Given the description of an element on the screen output the (x, y) to click on. 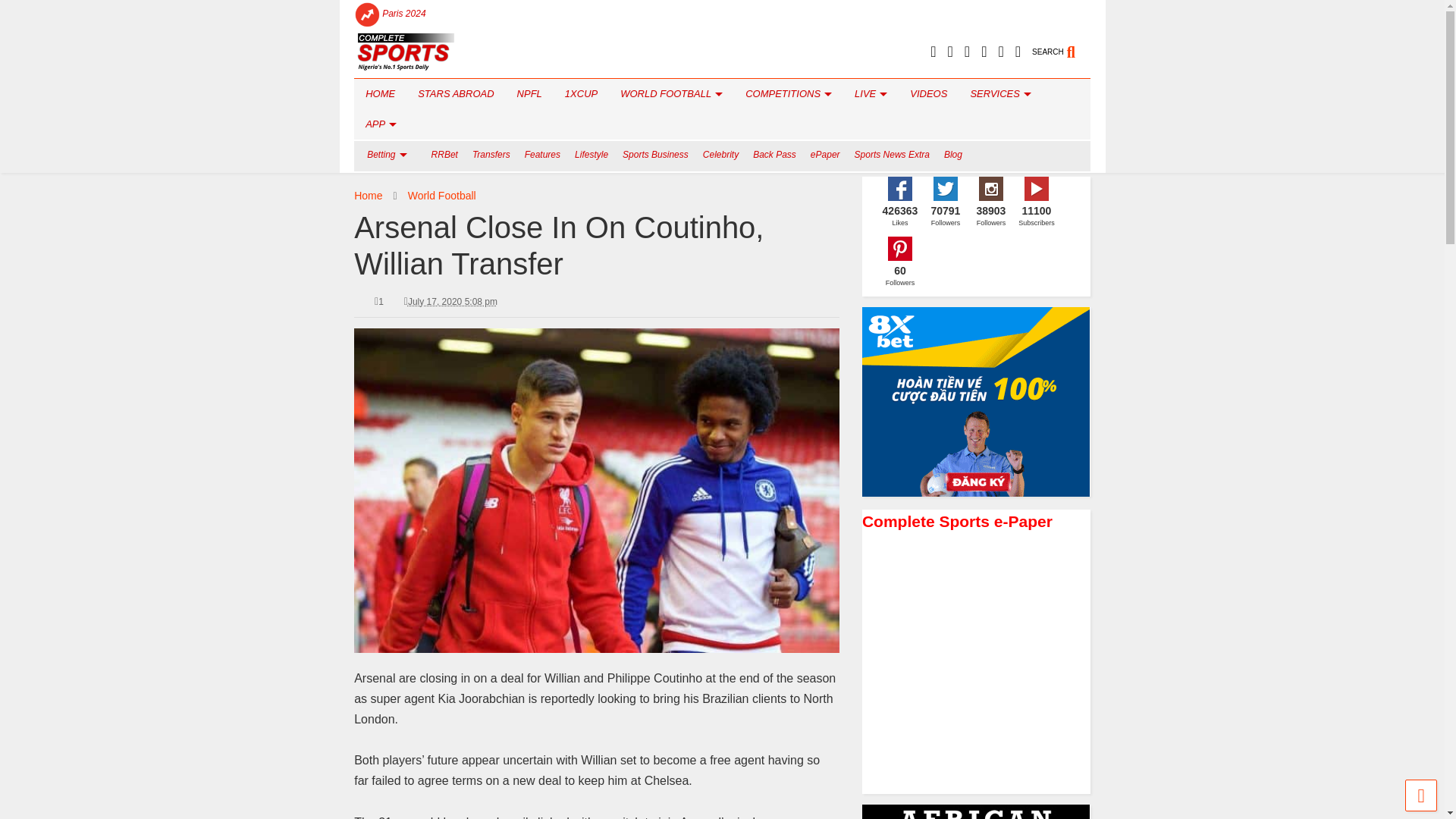
HOME (379, 93)
SEARCH (1061, 45)
1XCUP (580, 93)
July 17, 2020 5:13 pm (452, 301)
VIDEOS (928, 93)
Paris 2024 (403, 13)
Complete Sports (405, 65)
WORLD FOOTBALL (670, 93)
COMPETITIONS (788, 93)
